Given the description of an element on the screen output the (x, y) to click on. 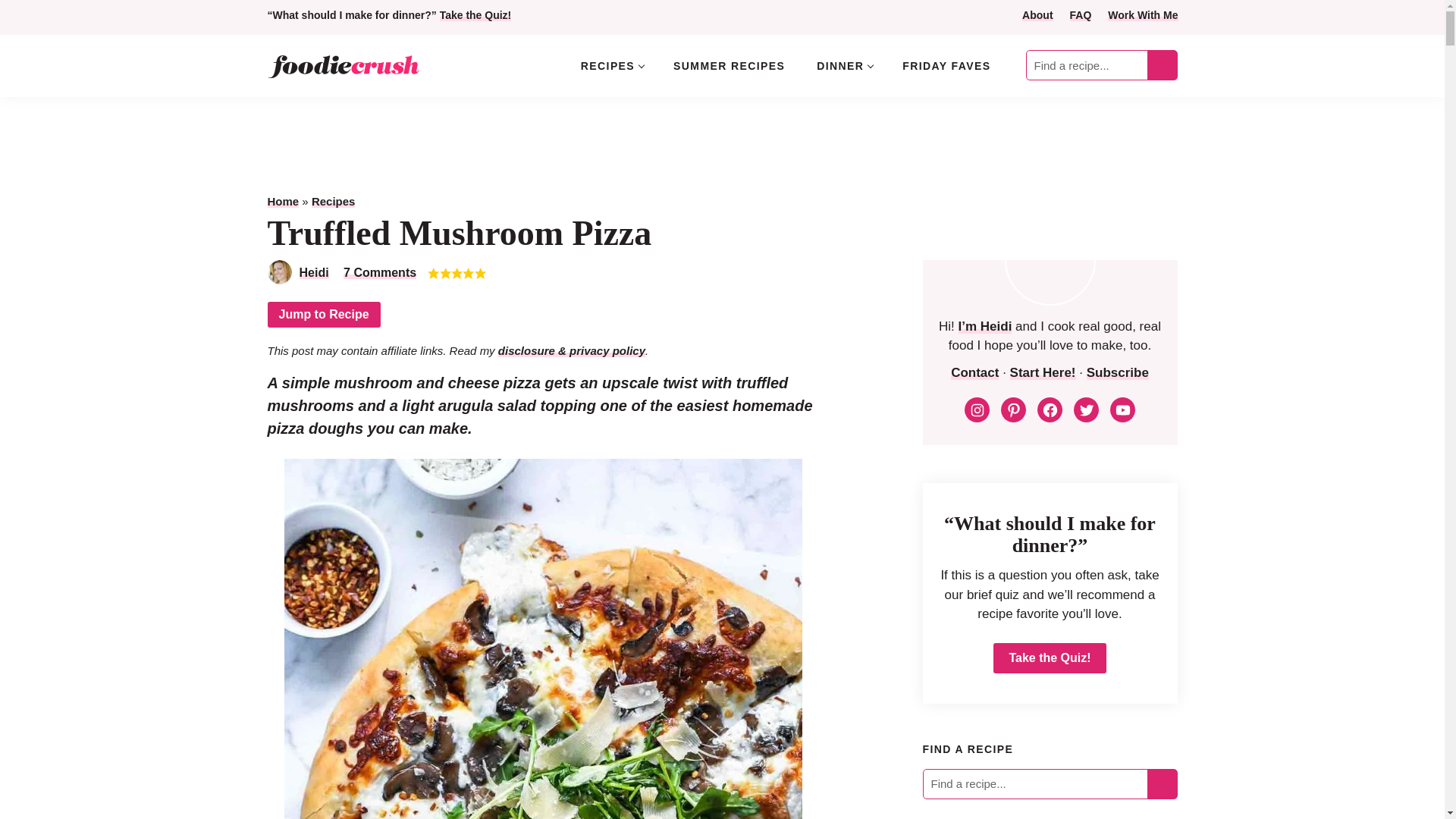
DINNER (843, 65)
Submit search (1162, 65)
FAQ (1081, 15)
Home (282, 201)
Take the Quiz! (475, 15)
Heidi (313, 272)
Submit search (1162, 65)
About (1037, 15)
Submit search (1162, 783)
Recipes (333, 201)
